Given the description of an element on the screen output the (x, y) to click on. 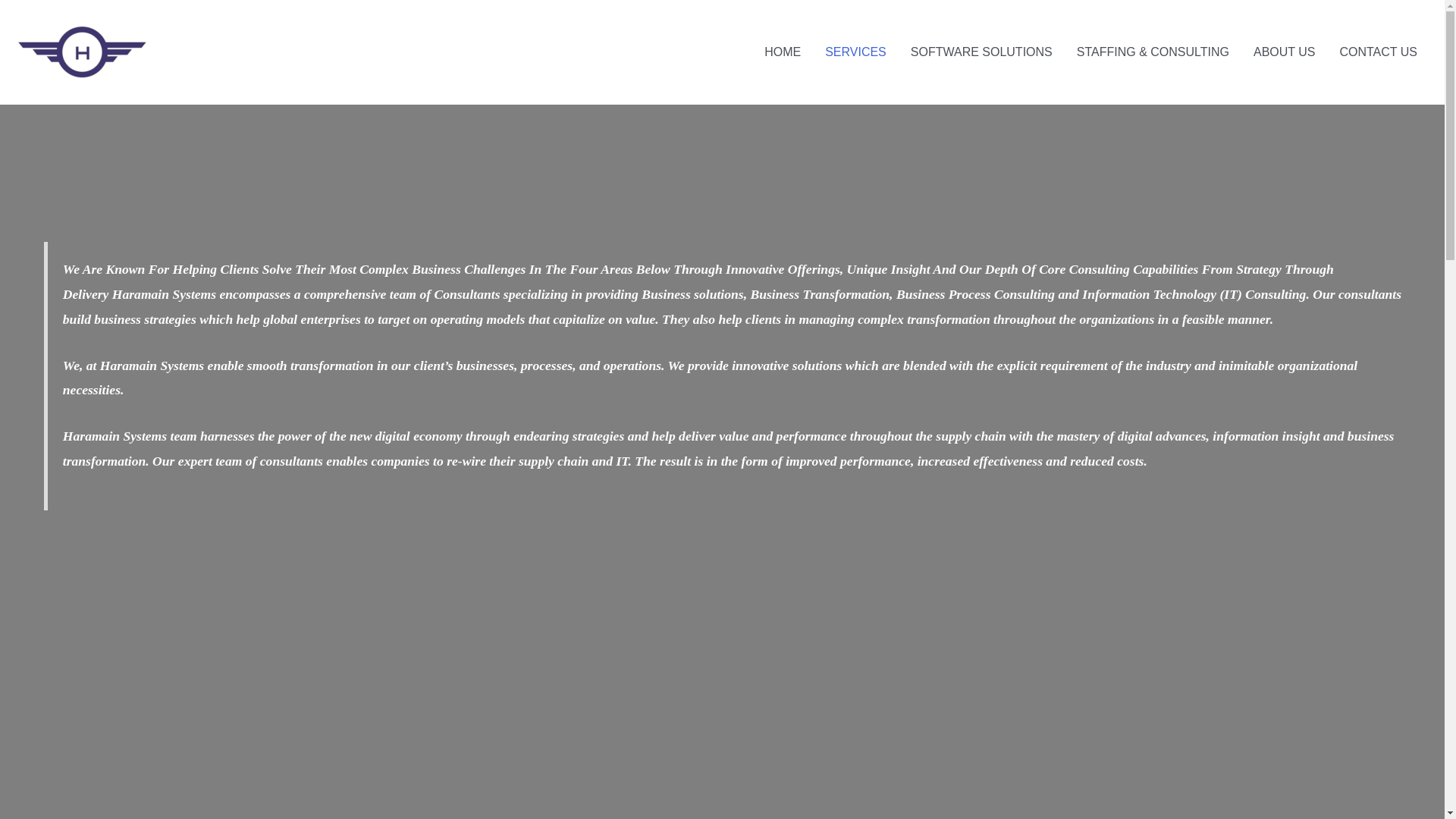
SERVICES (855, 51)
ABOUT US (1284, 51)
CONTACT US (1377, 51)
SOFTWARE SOLUTIONS (981, 51)
HOME (782, 51)
